Given the description of an element on the screen output the (x, y) to click on. 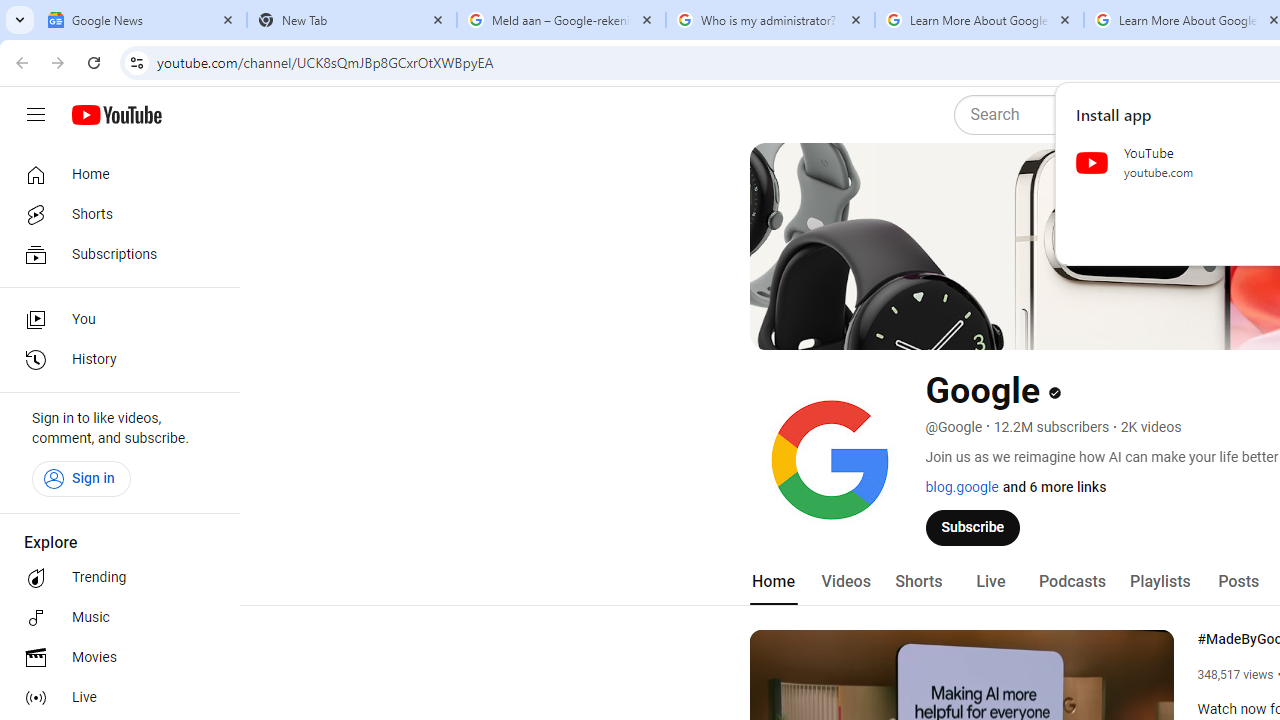
Live (113, 697)
Movies (113, 657)
Posts (1238, 581)
